Given the description of an element on the screen output the (x, y) to click on. 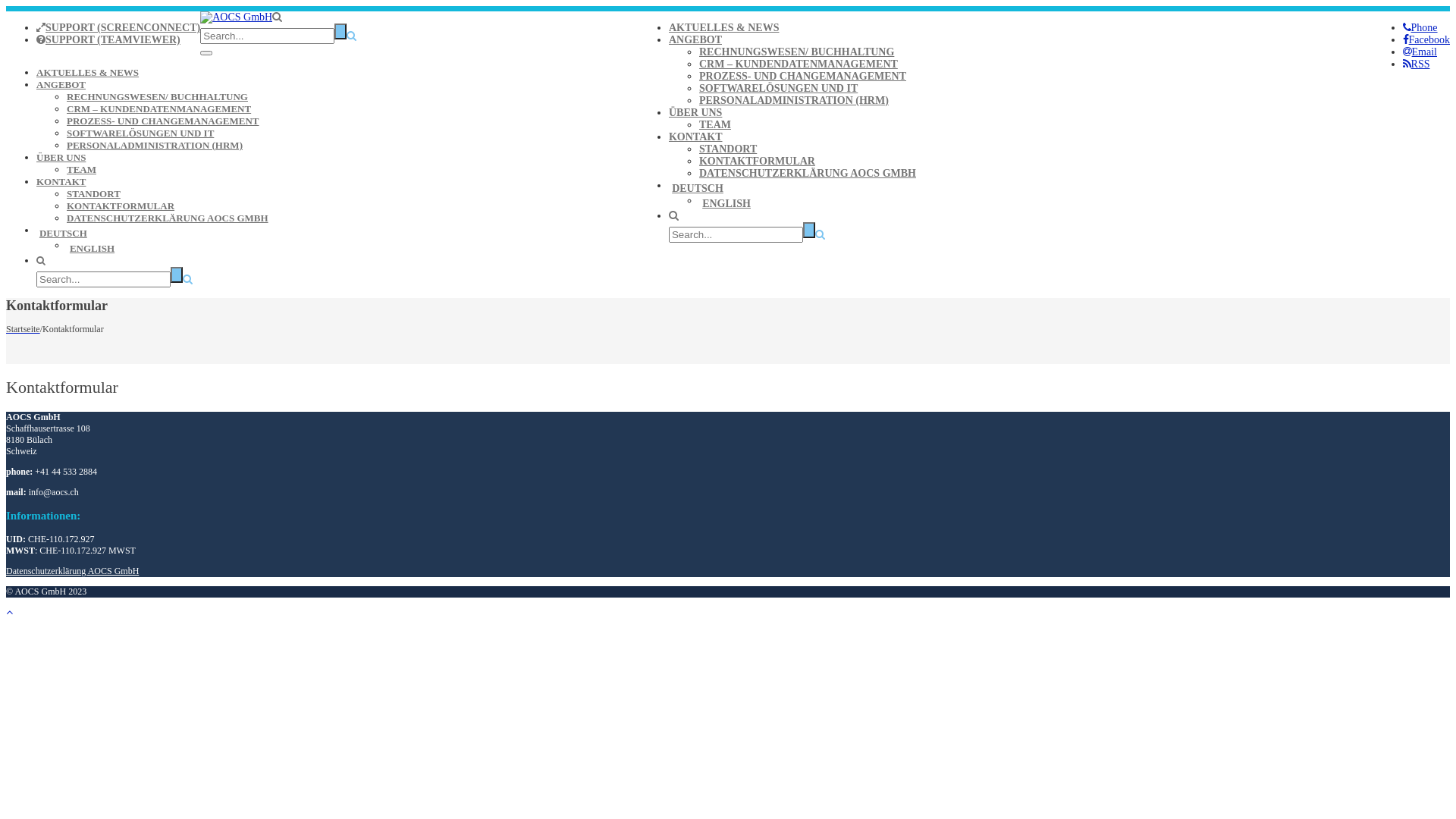
DEUTSCH Element type: text (792, 188)
RECHNUNGSWESEN/ BUCHHALTUNG Element type: text (796, 51)
AKTUELLES & NEWS Element type: text (87, 72)
AOCS GmbH Element type: hover (236, 16)
STANDORT Element type: text (93, 193)
PERSONALADMINISTRATION (HRM) Element type: text (154, 144)
Startseite Element type: text (23, 328)
Facebook Element type: text (1425, 39)
KONTAKTFORMULAR Element type: text (757, 160)
AKTUELLES & NEWS Element type: text (723, 27)
PERSONALADMINISTRATION (HRM) Element type: text (793, 100)
RSS Element type: text (1416, 63)
ENGLISH Element type: text (807, 203)
DEUTSCH Element type: text (337, 233)
ANGEBOT Element type: text (694, 39)
ENGLISH Element type: text (352, 248)
ANGEBOT Element type: text (60, 84)
SUPPORT (TEAMVIEWER) Element type: text (108, 39)
STANDORT Element type: text (727, 148)
Email Element type: text (1419, 51)
RECHNUNGSWESEN/ BUCHHALTUNG Element type: text (156, 96)
PROZESS- UND CHANGEMANAGEMENT Element type: text (802, 75)
KONTAKT Element type: text (695, 136)
TEAM Element type: text (715, 124)
Phone Element type: text (1419, 27)
SUPPORT (SCREENCONNECT) Element type: text (118, 27)
TEAM Element type: text (81, 169)
KONTAKT Element type: text (61, 181)
KONTAKTFORMULAR Element type: text (120, 205)
PROZESS- UND CHANGEMANAGEMENT Element type: text (162, 120)
